Given the description of an element on the screen output the (x, y) to click on. 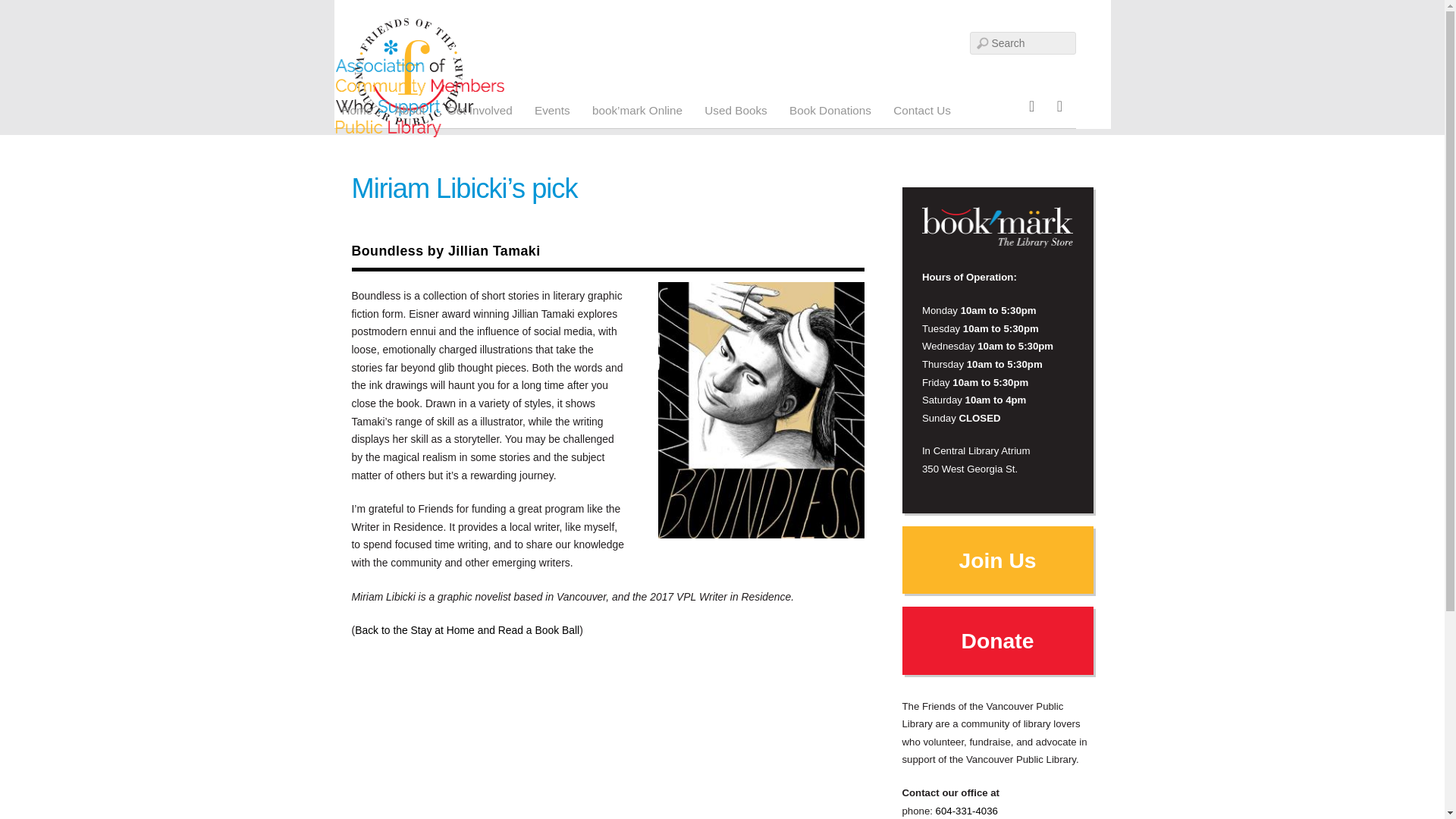
Events (552, 110)
Book Donations (830, 110)
Stay at Home and Read a Book Ball (467, 630)
Contact Us (921, 110)
Join Us (996, 564)
Donate (997, 640)
Friends of the Vancouver Public Library (408, 71)
Instagram (1032, 105)
About (409, 110)
Back to the Stay at Home and Read a Book Ball (467, 630)
Home (356, 110)
604-331-4036 (966, 810)
Used Books (735, 110)
Friends of the Vancouver Public Library (408, 116)
